Given the description of an element on the screen output the (x, y) to click on. 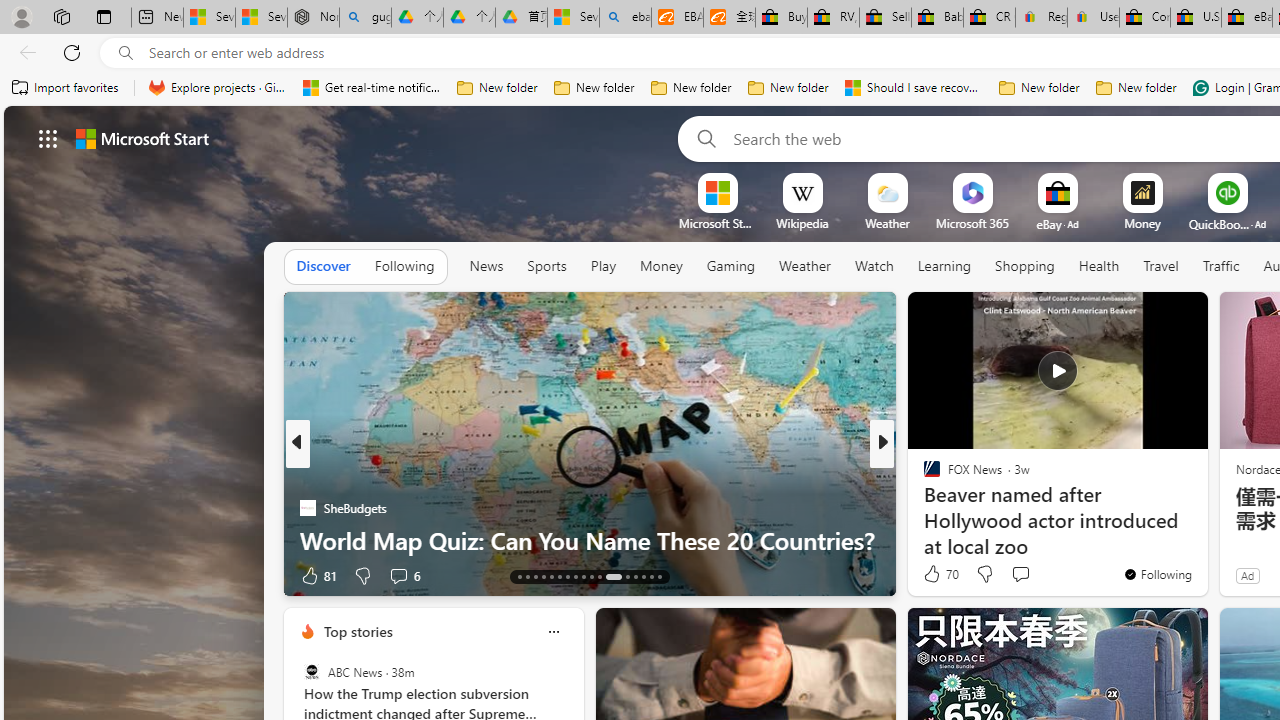
View comments 6 Comment (398, 575)
To get missing image descriptions, open the context menu. (717, 192)
Refresh (72, 52)
Watch (874, 265)
Class: icon-img (553, 632)
Wikipedia (802, 223)
AutomationID: tab-33 (642, 576)
Money (660, 265)
AutomationID: tab-20 (574, 576)
Shopping (1025, 265)
Travel (1160, 265)
Back (24, 52)
Import favorites (65, 88)
AutomationID: tab-18 (559, 576)
